Given the description of an element on the screen output the (x, y) to click on. 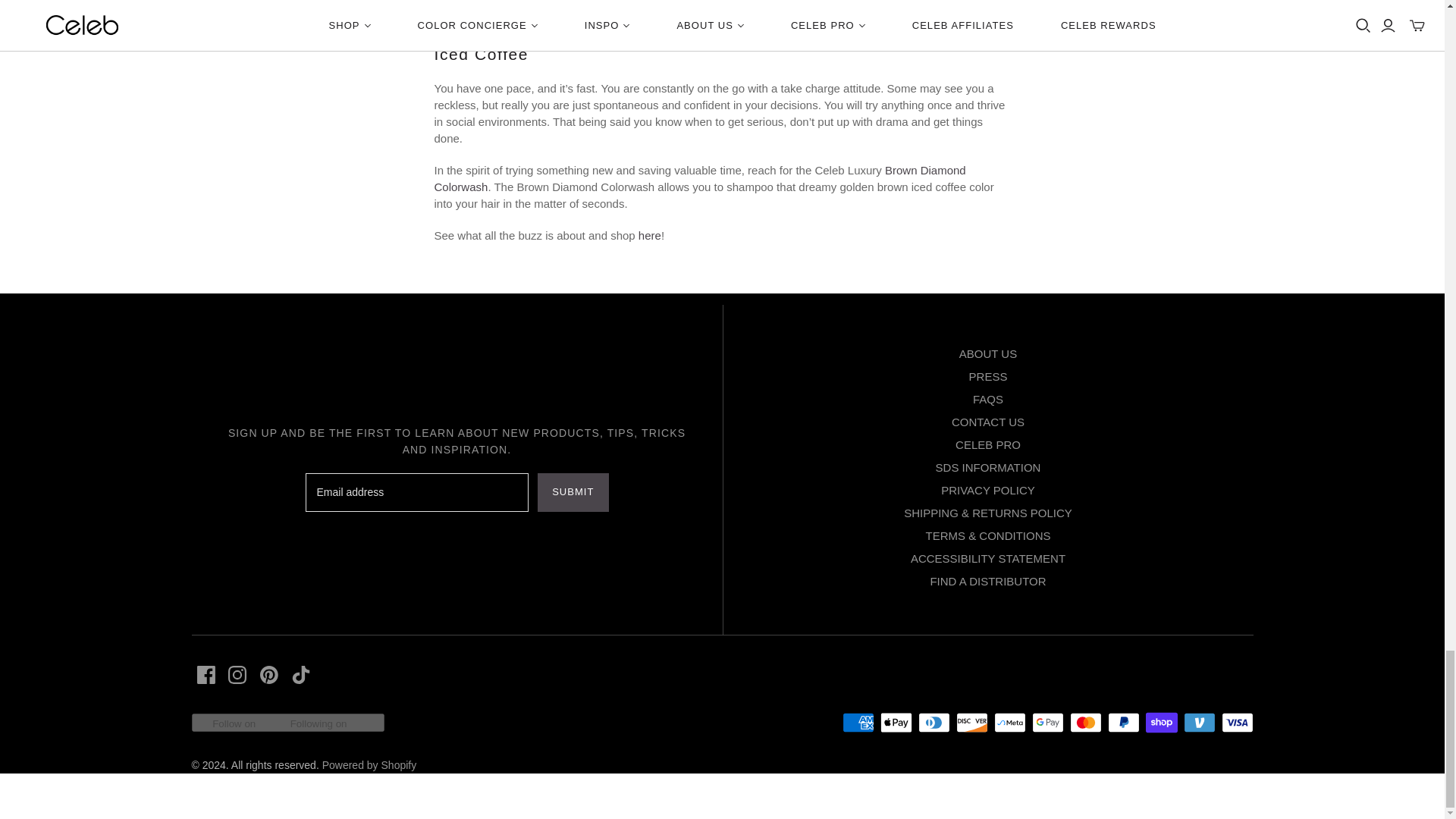
Google Pay (1046, 722)
Discover (971, 722)
PayPal (1122, 722)
Meta Pay (1008, 722)
Apple Pay (895, 722)
Diners Club (933, 722)
American Express (857, 722)
Mastercard (1084, 722)
